Given the description of an element on the screen output the (x, y) to click on. 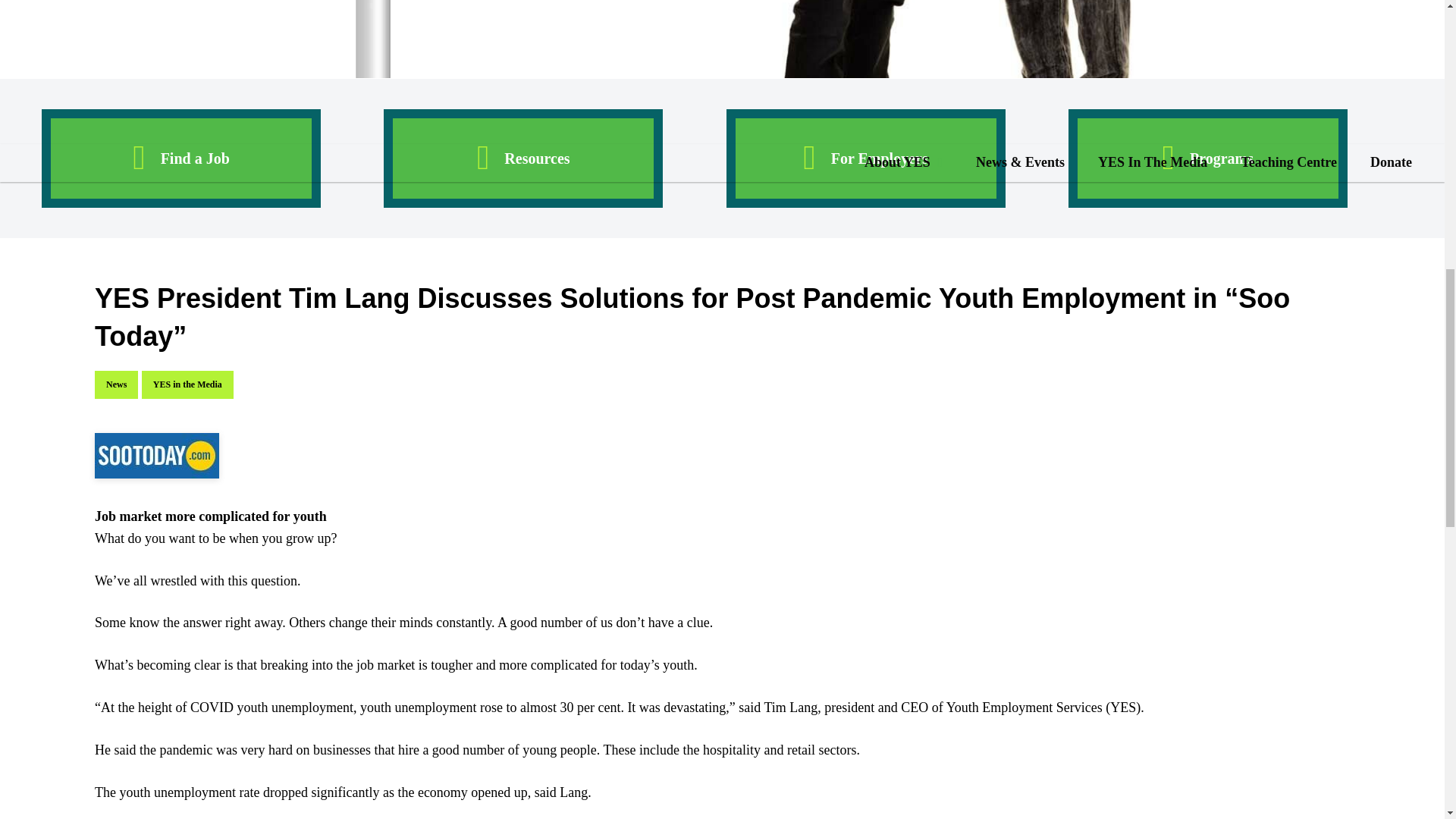
For Employers (866, 158)
Online Resources (523, 158)
Programs (1208, 158)
Job Board (181, 158)
